Given the description of an element on the screen output the (x, y) to click on. 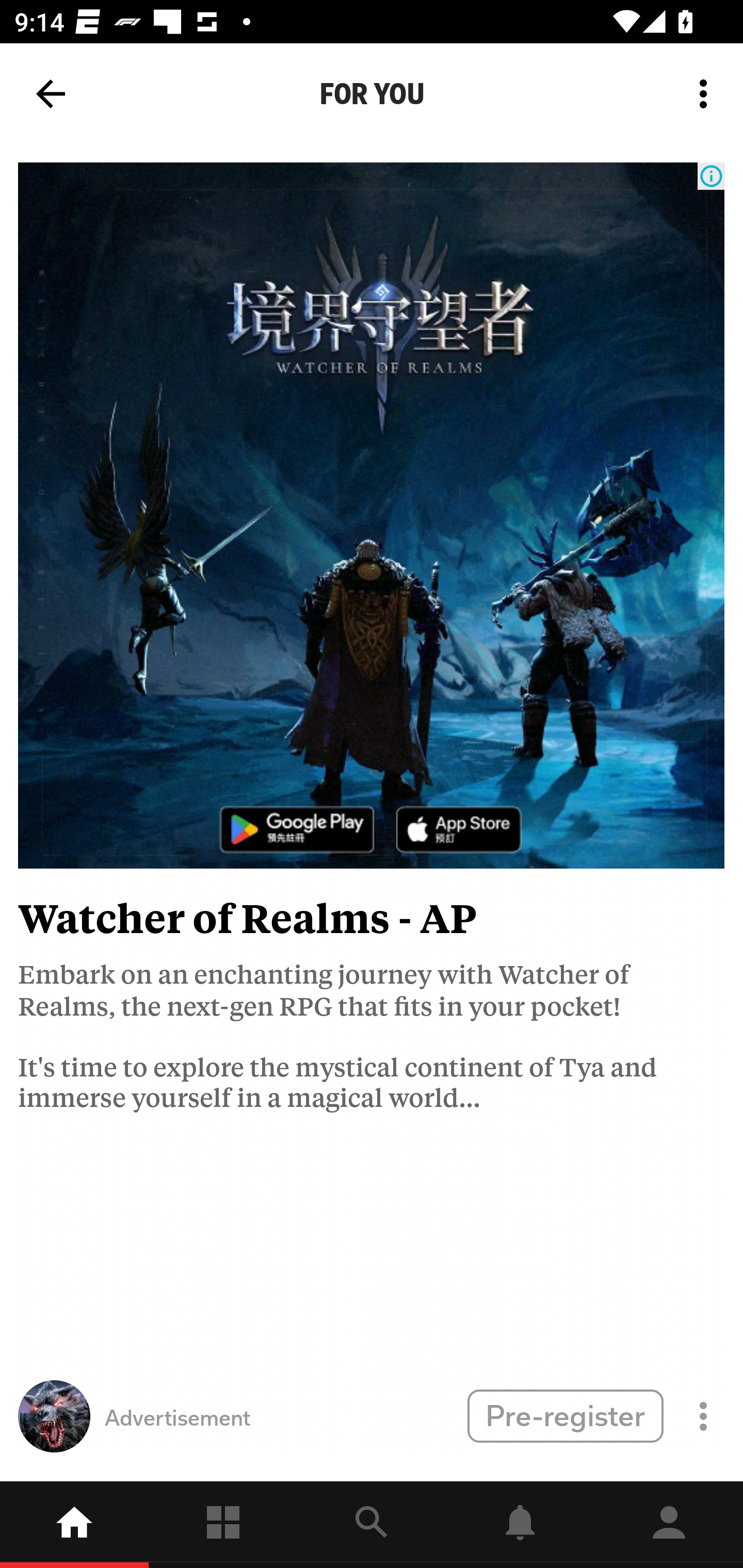
Back (50, 93)
FOR YOU (371, 93)
Edit Home (697, 83)
Ad Choices Icon (711, 176)
Pre-register (565, 1415)
home (74, 1524)
Following (222, 1524)
explore (371, 1524)
Notifications (519, 1524)
Profile (668, 1524)
